Given the description of an element on the screen output the (x, y) to click on. 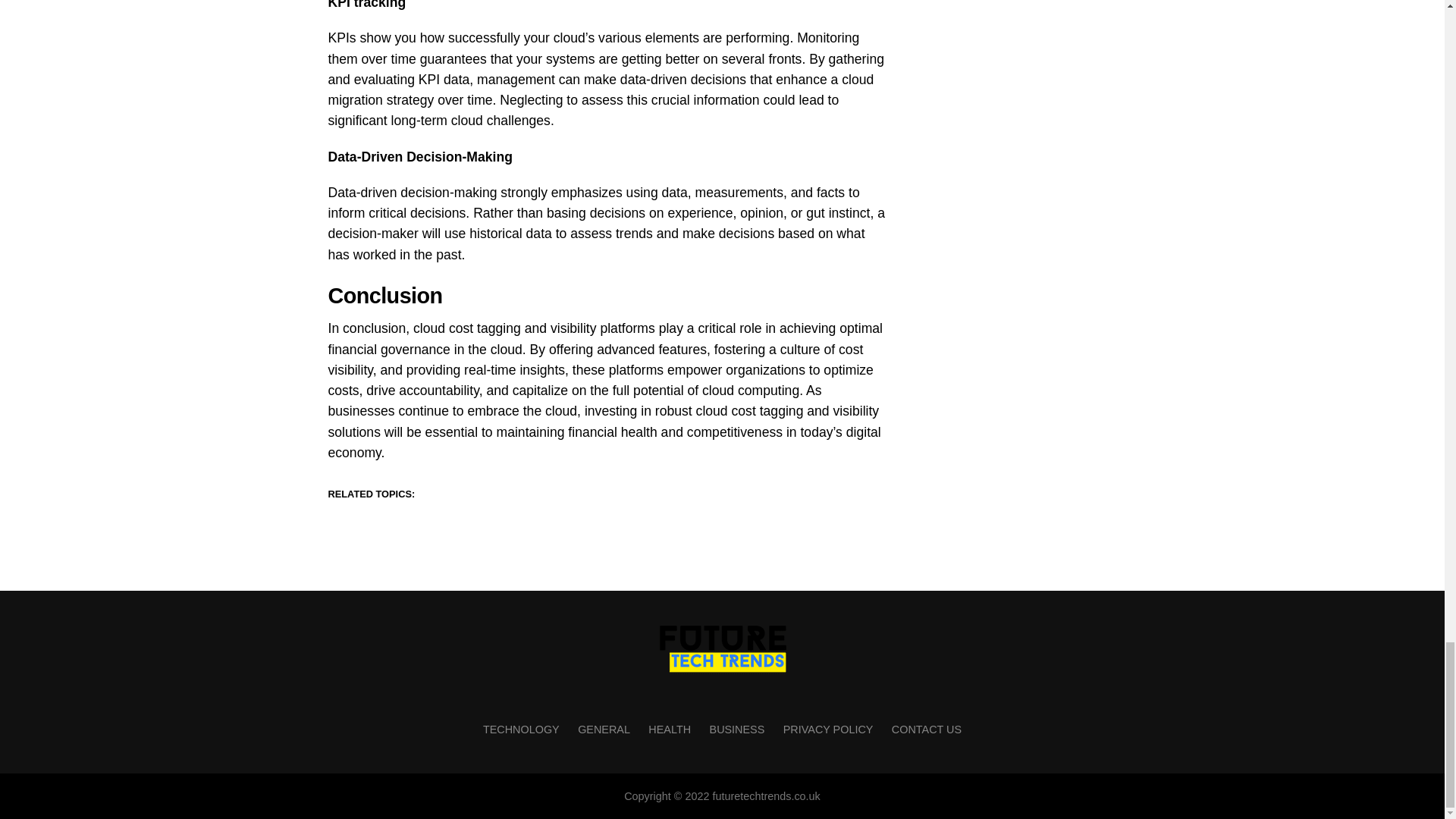
PRIVACY POLICY (828, 729)
HEALTH (668, 729)
BUSINESS (737, 729)
CONTACT US (925, 729)
GENERAL (604, 729)
TECHNOLOGY (521, 729)
